Given the description of an element on the screen output the (x, y) to click on. 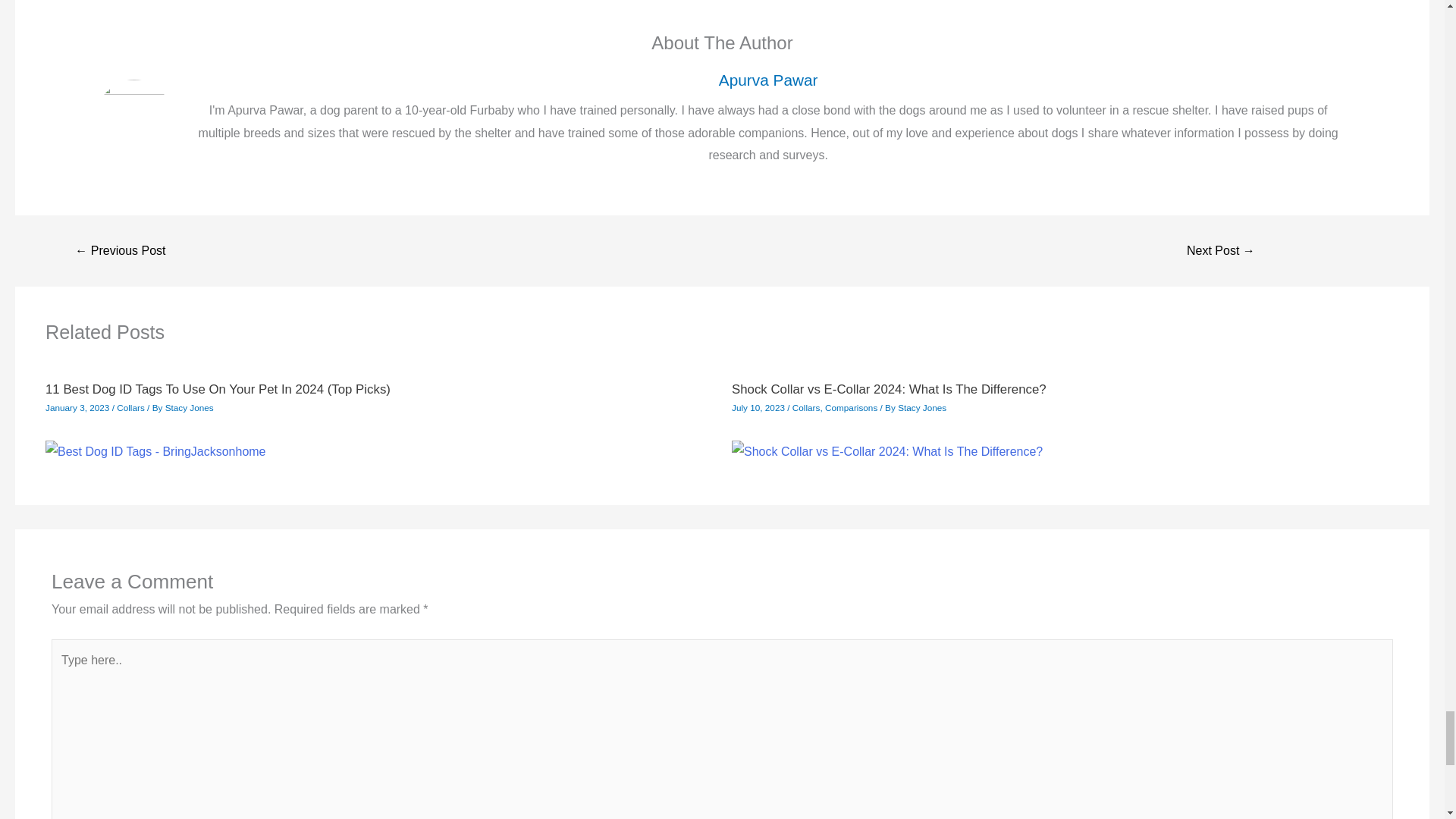
Apurva Pawar (767, 79)
Stacy Jones (189, 407)
View all posts by Stacy Jones (189, 407)
Great Dane Chihuahua Mix - Everything You Need To Know (1220, 250)
View all posts by Stacy Jones (922, 407)
Collars (130, 407)
Shock Collar vs E-Collar 2024: What Is The Difference? (889, 389)
Collars (806, 407)
